Given the description of an element on the screen output the (x, y) to click on. 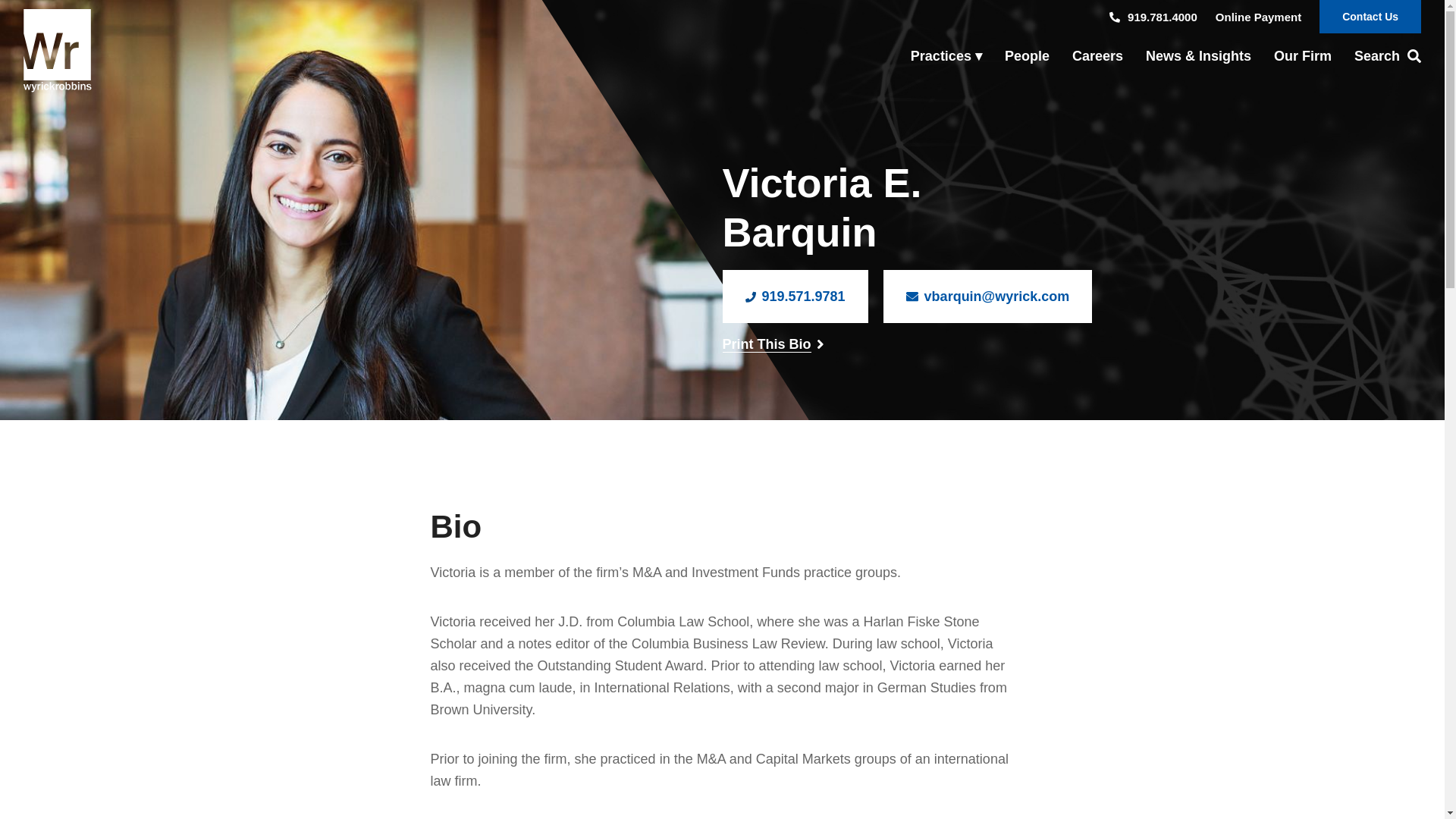
919.571.9781 (794, 296)
Careers (1097, 56)
Print This Bio (766, 344)
919.781.4000 (1152, 16)
Practices (945, 56)
homepage (57, 50)
People (1026, 56)
Our Firm (1302, 56)
Search (1381, 56)
Online Payment (1258, 16)
Contact Us (1370, 16)
